Given the description of an element on the screen output the (x, y) to click on. 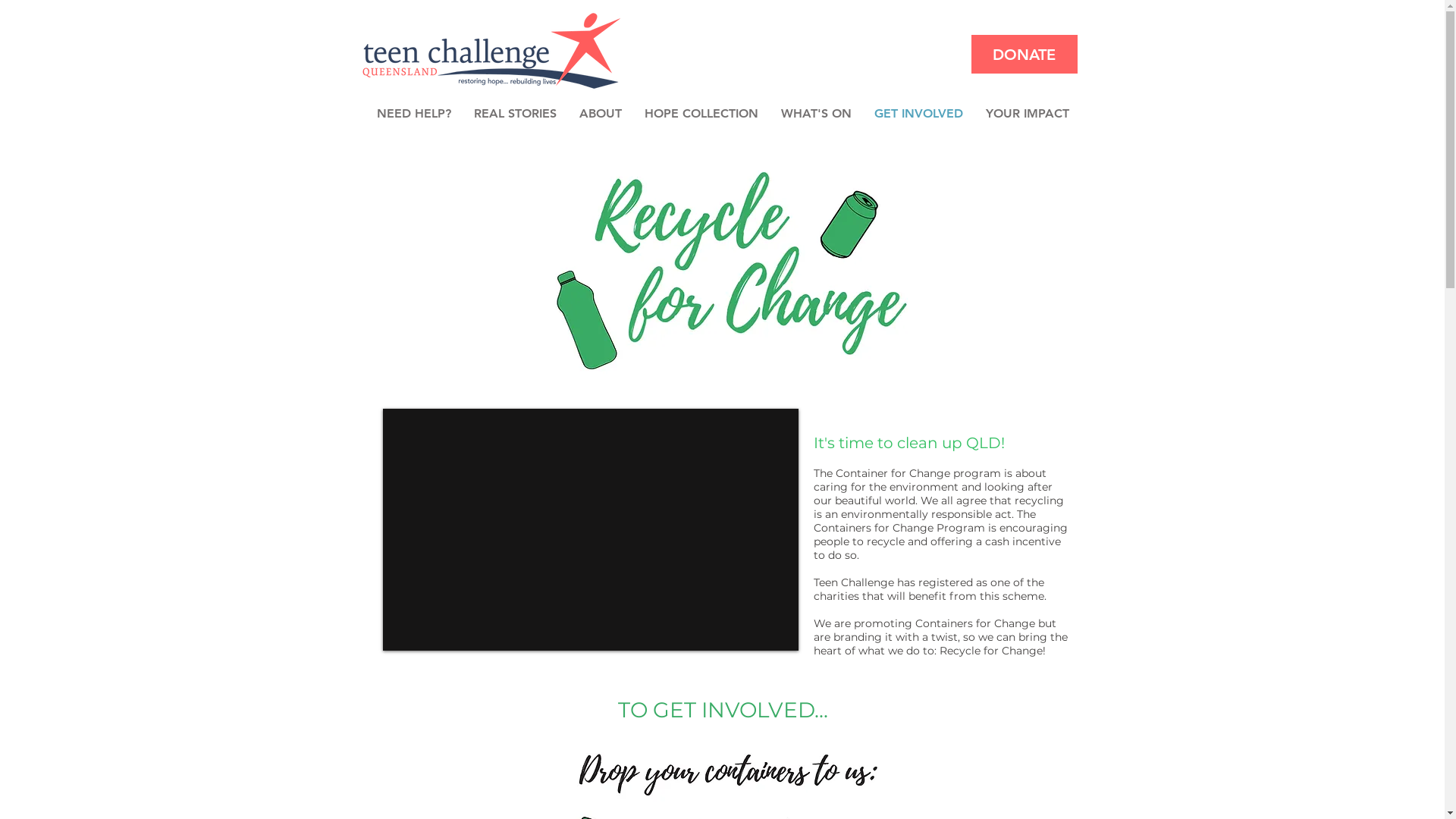
REAL STORIES Element type: text (514, 113)
WHAT'S ON Element type: text (815, 113)
NEED HELP? Element type: text (413, 113)
GET INVOLVED Element type: text (918, 113)
DONATE Element type: text (1023, 53)
YOUR IMPACT Element type: text (1026, 113)
External YouTube Element type: hover (589, 529)
ABOUT Element type: text (599, 113)
HOPE COLLECTION Element type: text (700, 113)
